Given the description of an element on the screen output the (x, y) to click on. 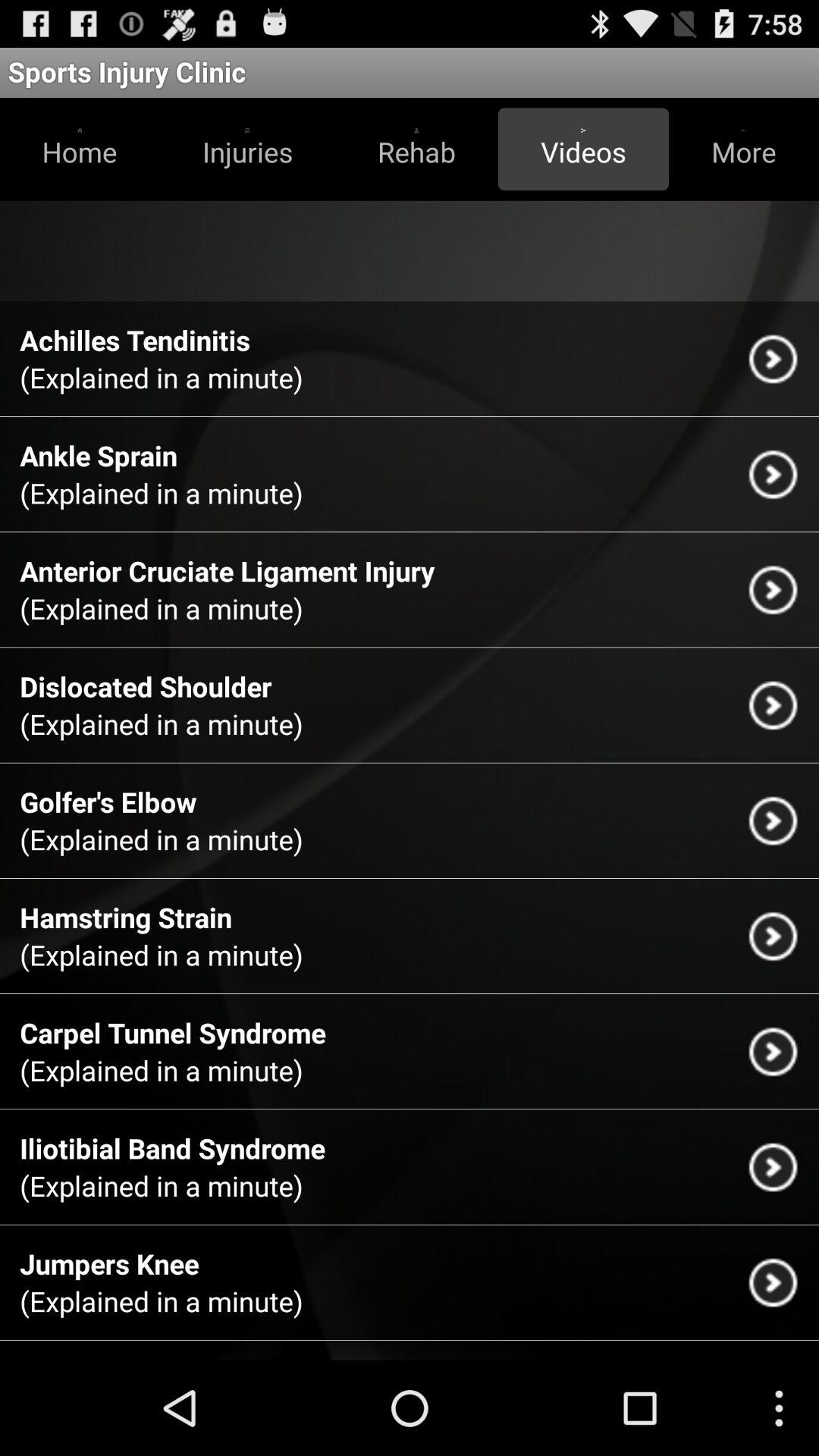
turn on the app above the explained in a (134, 339)
